Given the description of an element on the screen output the (x, y) to click on. 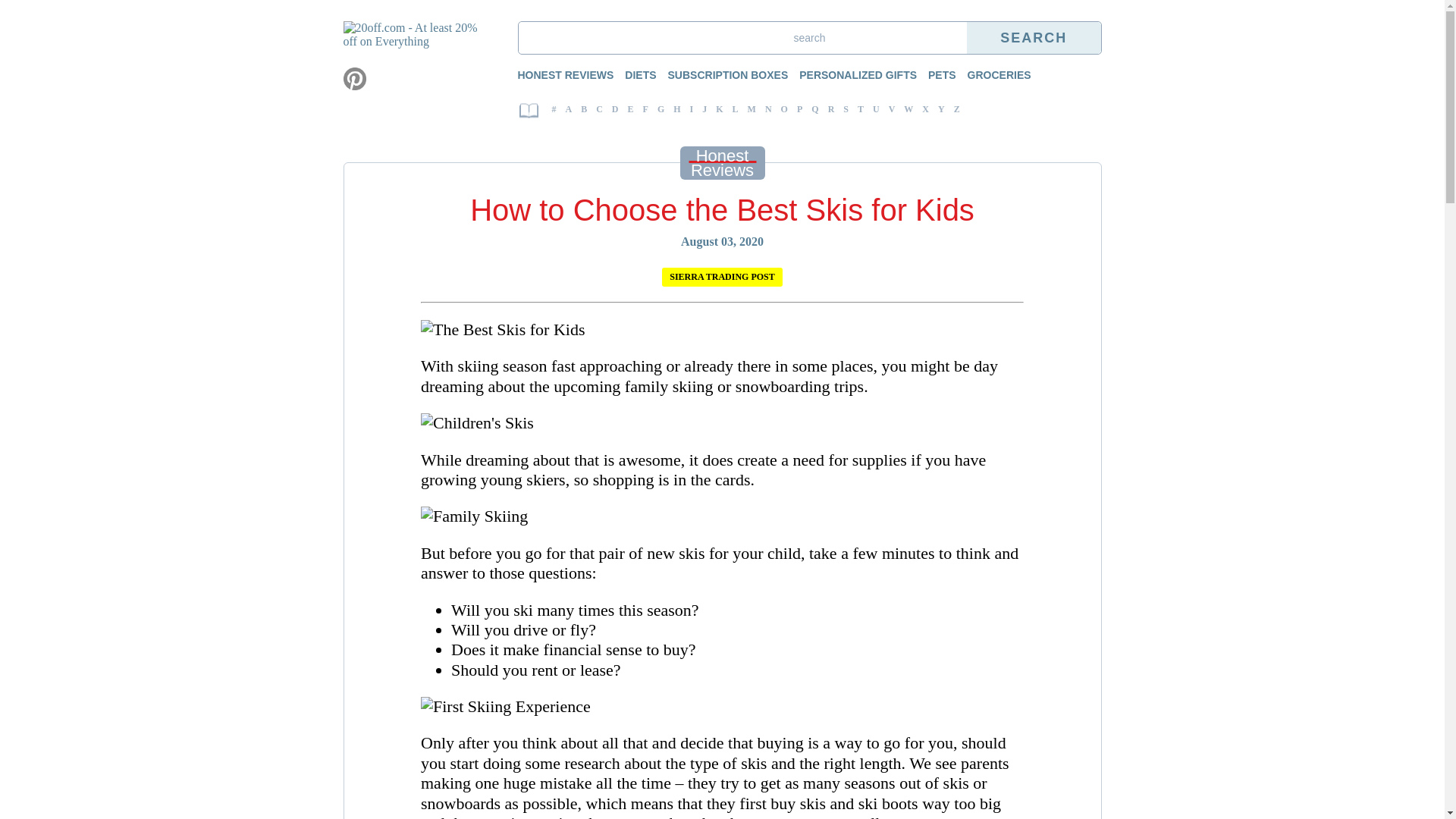
T Element type: text (860, 109)
R Element type: text (831, 109)
GROCERIES Element type: text (991, 73)
P Element type: text (799, 109)
HONEST REVIEWS Element type: text (569, 73)
DIETS Element type: text (632, 73)
SEARCH Element type: text (1033, 37)
S Element type: text (845, 109)
E Element type: text (630, 109)
A Element type: text (569, 109)
J Element type: text (704, 109)
Y Element type: text (941, 109)
H Element type: text (676, 109)
SUBSCRIPTION BOXES Element type: text (720, 73)
N Element type: text (768, 109)
W Element type: text (908, 109)
K Element type: text (719, 109)
I Element type: text (691, 109)
L Element type: text (735, 109)
Q Element type: text (814, 109)
F Element type: text (645, 109)
SIERRA TRADING POST Element type: text (721, 276)
# Element type: text (556, 109)
M Element type: text (751, 109)
C Element type: text (599, 109)
O Element type: text (784, 109)
G Element type: text (660, 109)
X Element type: text (925, 109)
U Element type: text (876, 109)
B Element type: text (583, 109)
D Element type: text (615, 109)
V Element type: text (892, 109)
PERSONALIZED GIFTS Element type: text (850, 73)
Z Element type: text (954, 109)
PETS Element type: text (934, 73)
